Given the description of an element on the screen output the (x, y) to click on. 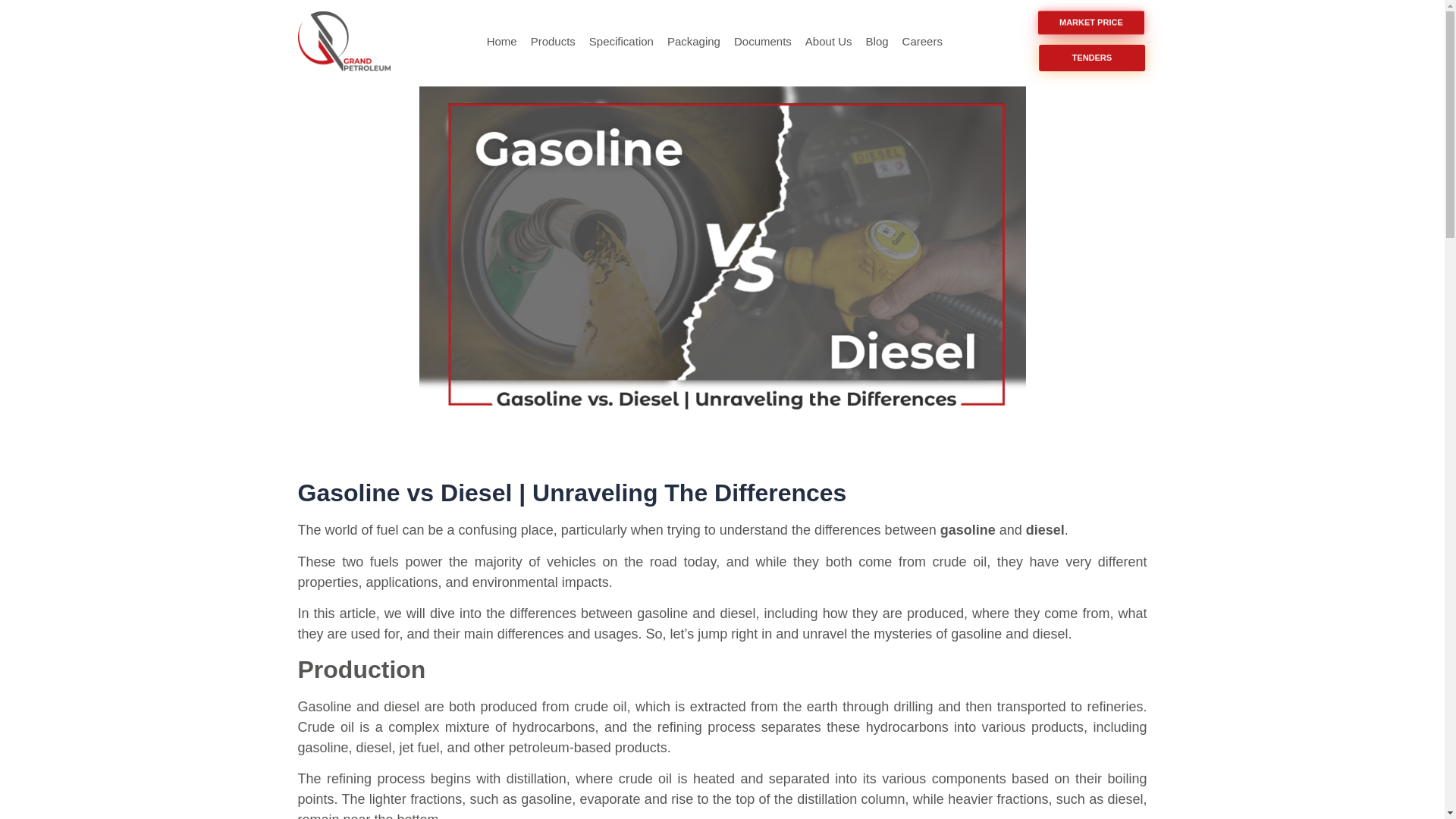
Home (502, 41)
Products (553, 41)
